Given the description of an element on the screen output the (x, y) to click on. 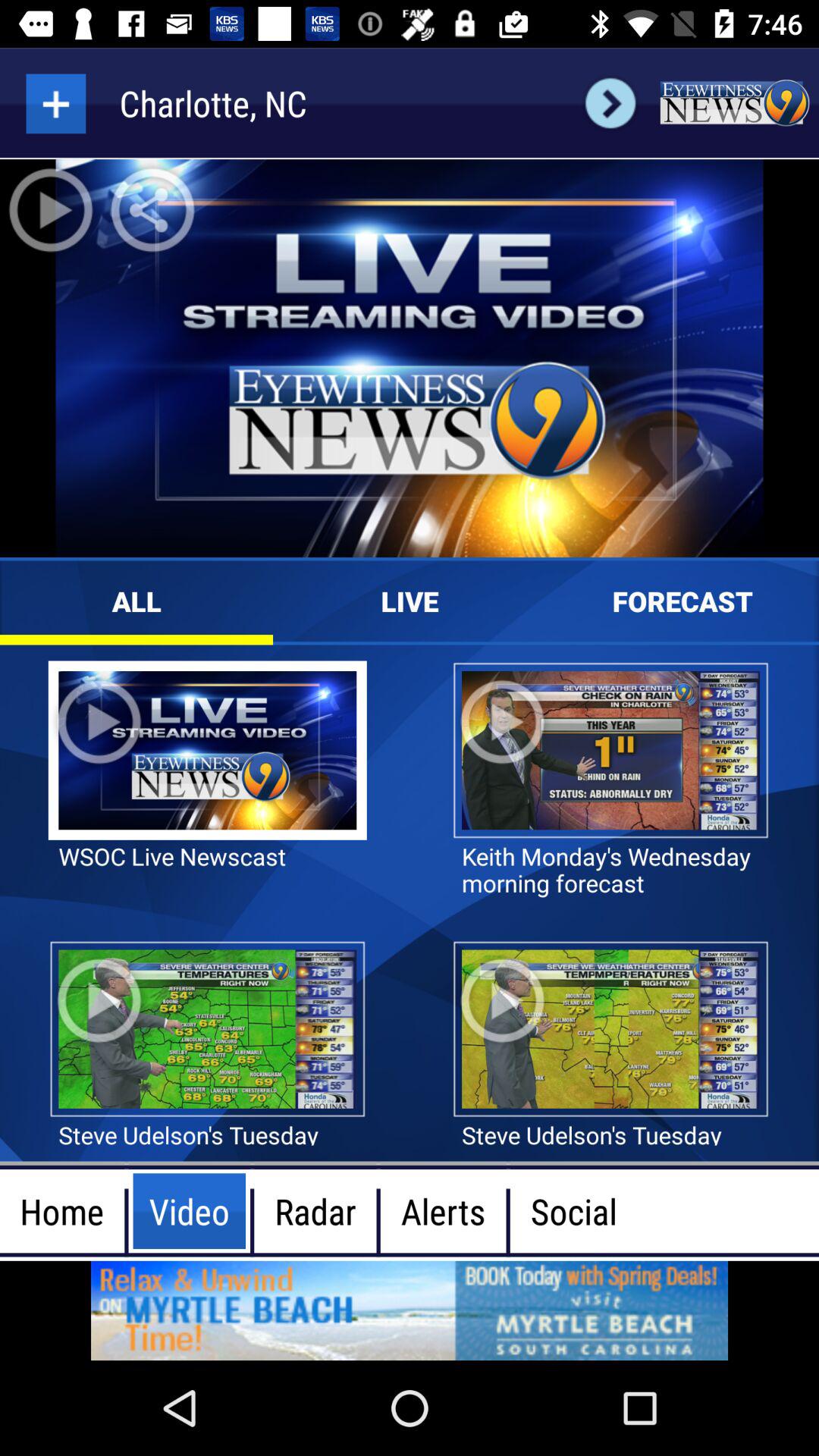
go to homepage (734, 103)
